Given the description of an element on the screen output the (x, y) to click on. 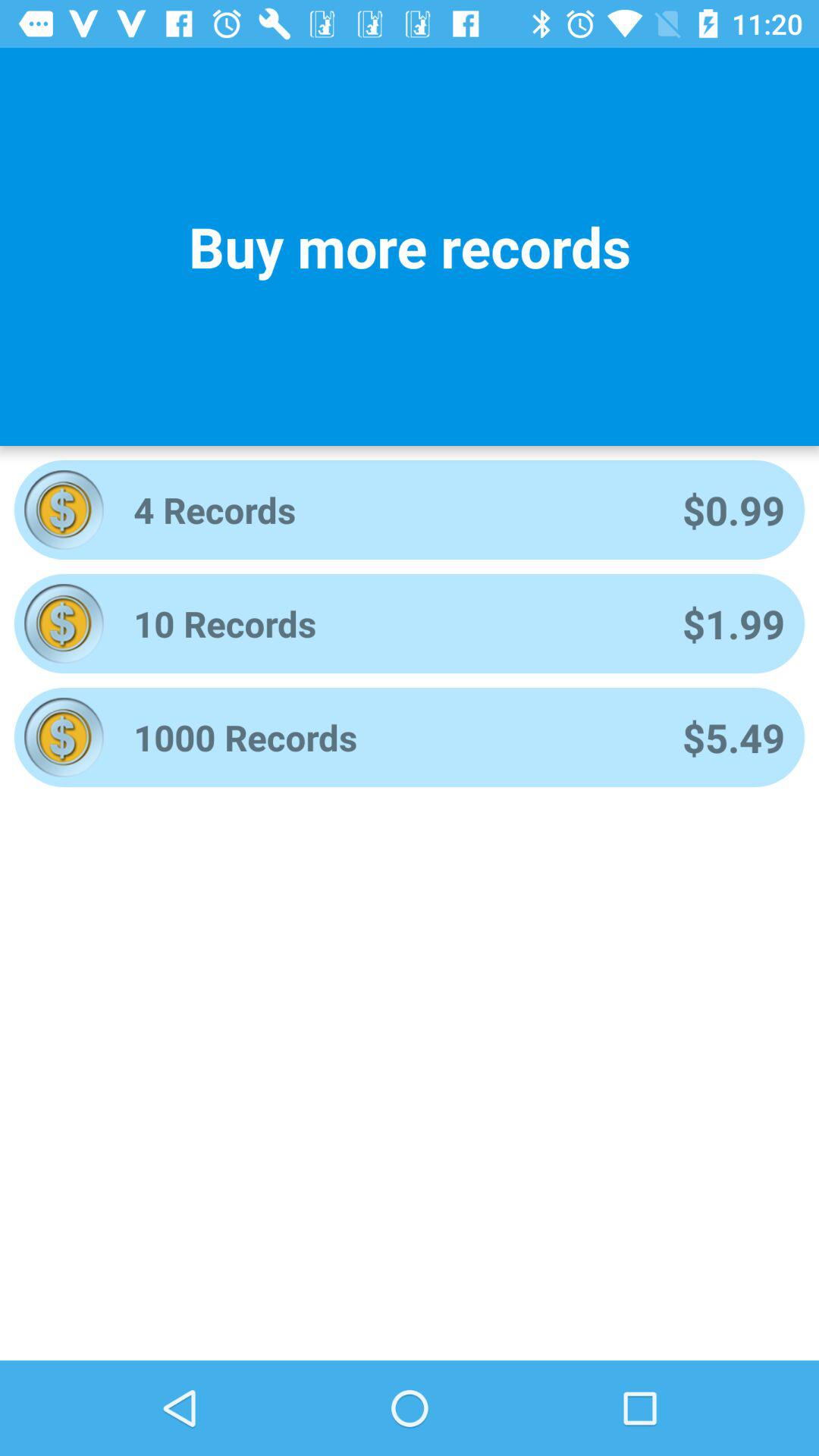
select the item to the left of the $5.49 app (387, 736)
